Given the description of an element on the screen output the (x, y) to click on. 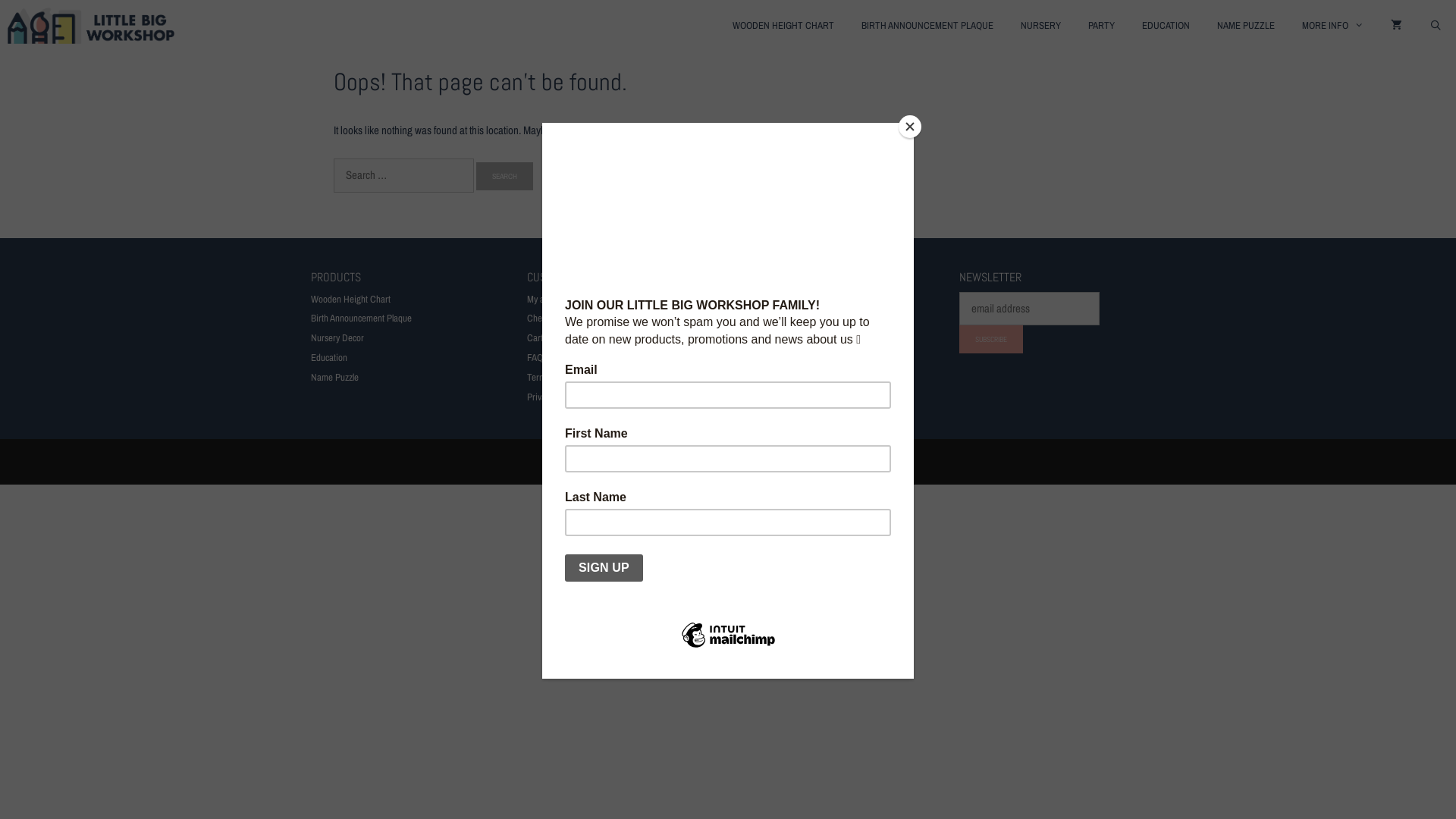
Terms & Conditions Element type: text (563, 376)
Education Element type: text (328, 357)
Search for: Element type: hover (403, 175)
Subscribe Element type: text (990, 339)
Birth Announcement Plaque Element type: text (360, 317)
Facebook Element type: hover (801, 309)
FAQs (including shipping) Element type: text (574, 357)
Little Big Workshop Element type: hover (90, 25)
BIRTH ANNOUNCEMENT PLAQUE Element type: text (927, 25)
My account Element type: text (547, 298)
EDUCATION Element type: text (1165, 25)
PARTY Element type: text (1101, 25)
Pinterest Element type: hover (842, 309)
Name Puzzle Element type: text (334, 376)
MORE INFO Element type: text (1332, 25)
Nursery Decor Element type: text (337, 337)
Checkout Element type: text (544, 317)
WOODEN HEIGHT CHART Element type: text (782, 25)
Wooden Height Chart Element type: text (350, 298)
View your shopping cart Element type: hover (1396, 25)
NURSERY Element type: text (1040, 25)
Little Big Workshop Element type: hover (94, 25)
Privacy Policy Element type: text (552, 396)
NAME PUZZLE Element type: text (1245, 25)
Cart Element type: text (534, 337)
Search Element type: text (504, 176)
Instagram Element type: hover (760, 309)
